Given the description of an element on the screen output the (x, y) to click on. 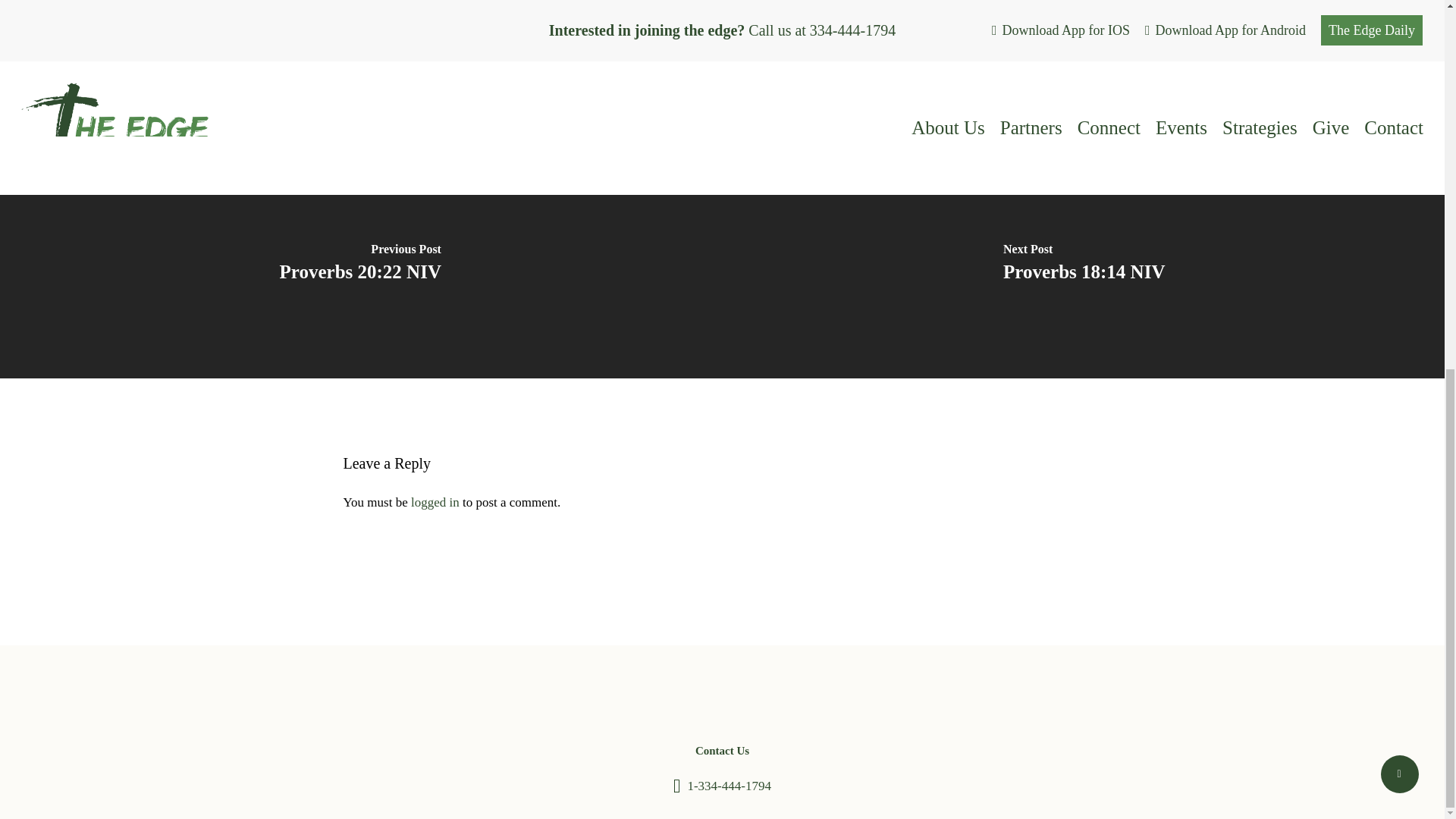
logged in (435, 502)
1-334-444-1794 (728, 785)
